Given the description of an element on the screen output the (x, y) to click on. 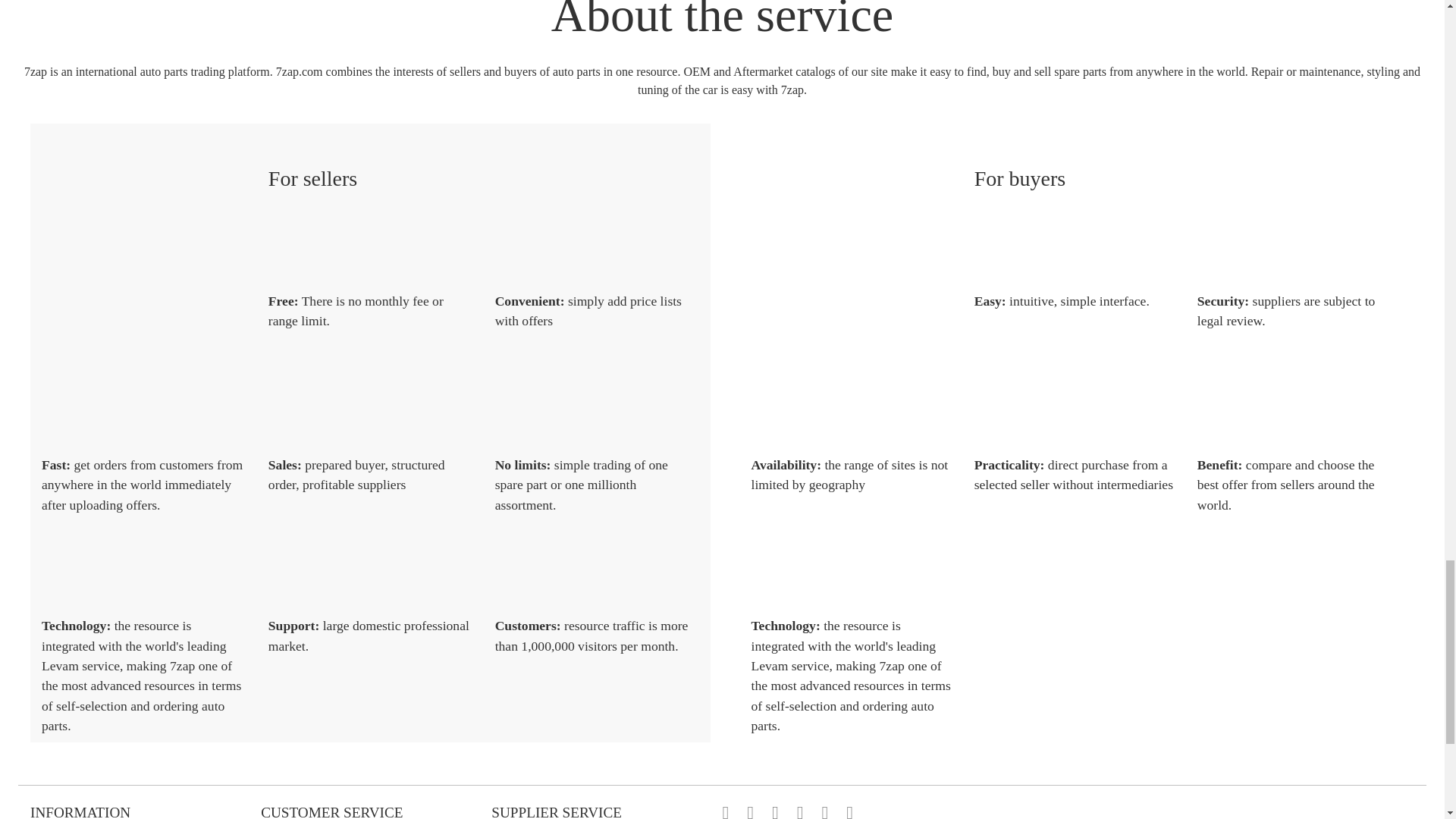
Pinterest (783, 811)
Twitter (758, 811)
Viber (809, 811)
Telegram (857, 811)
Whatsapp (834, 811)
Facebook (734, 811)
